Given the description of an element on the screen output the (x, y) to click on. 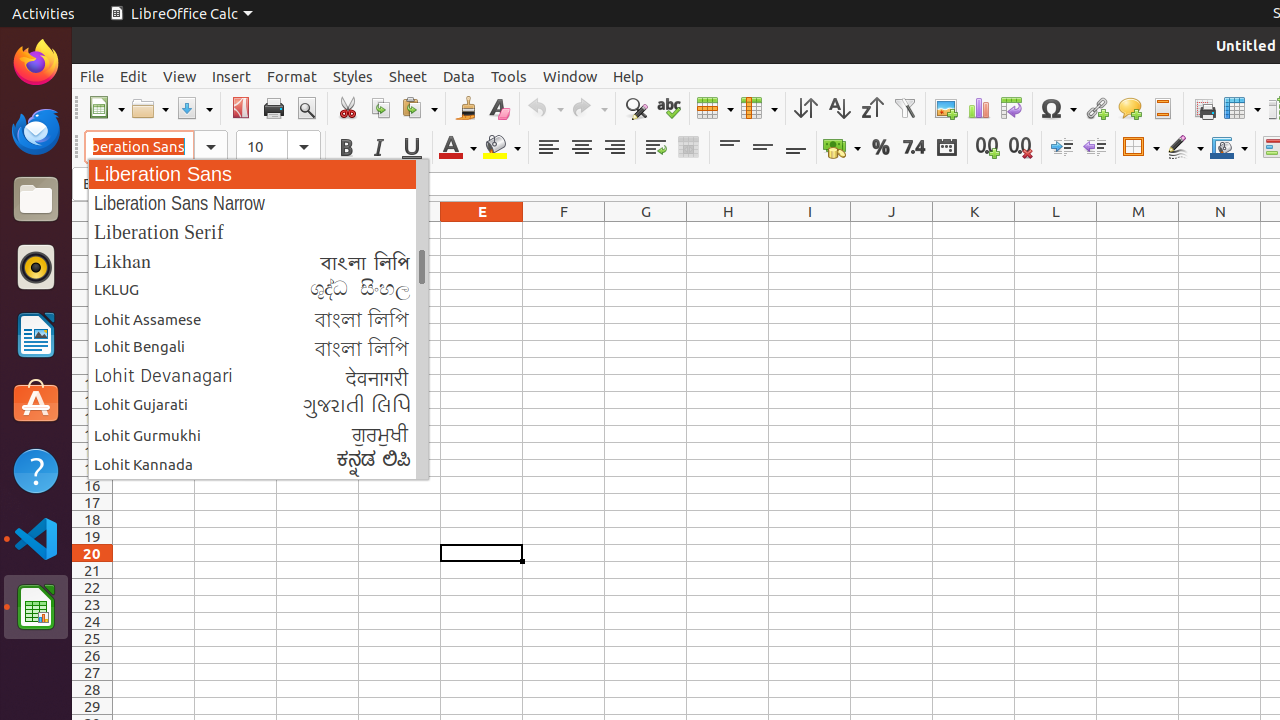
Lohit Devanagari Element type: list-item (258, 376)
View Element type: menu (179, 76)
Freeze Rows and Columns Element type: push-button (1242, 108)
J1 Element type: table-cell (892, 230)
LKLUG Element type: list-item (258, 289)
